Given the description of an element on the screen output the (x, y) to click on. 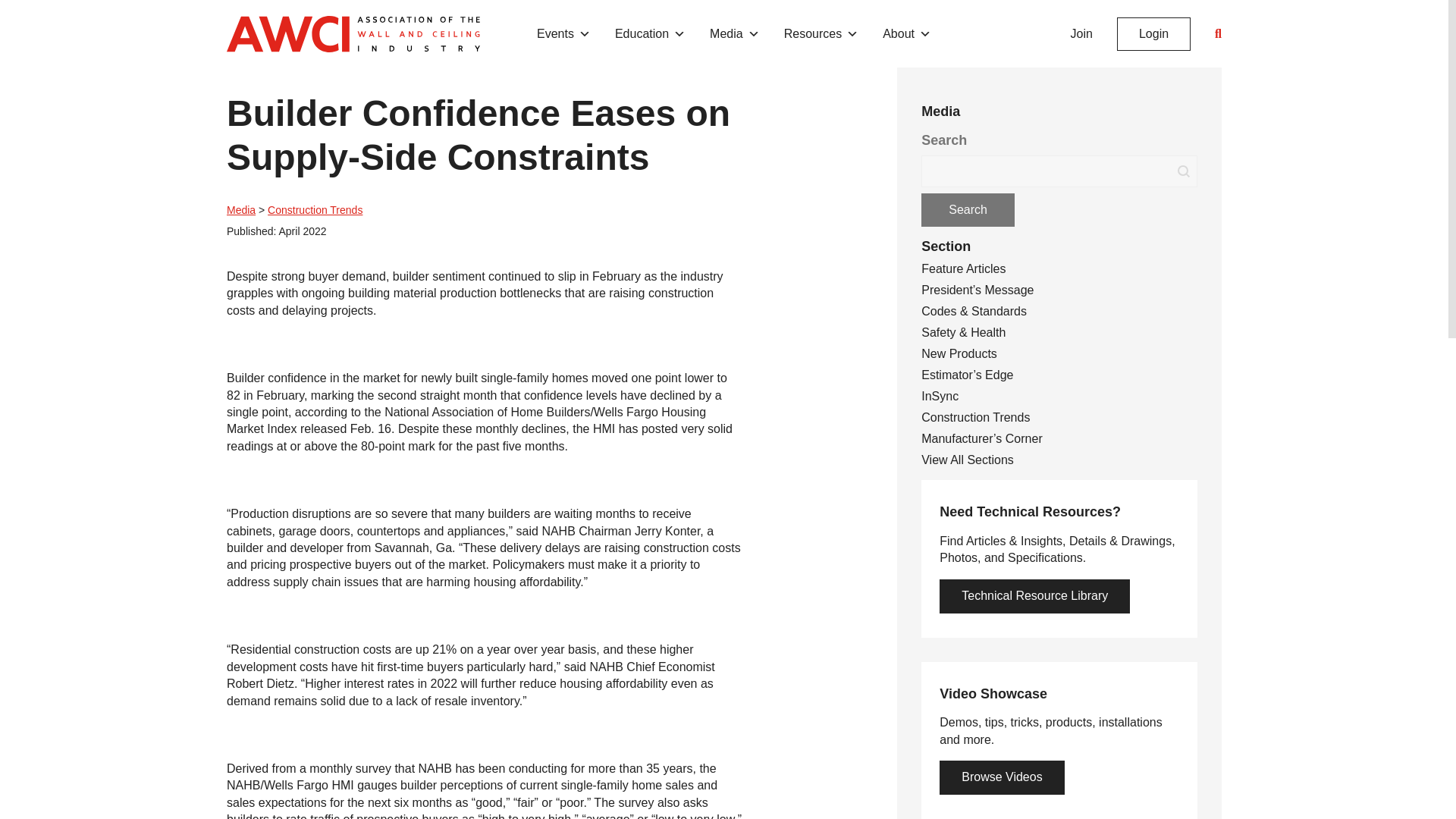
Education (649, 33)
Events (564, 33)
